Given the description of an element on the screen output the (x, y) to click on. 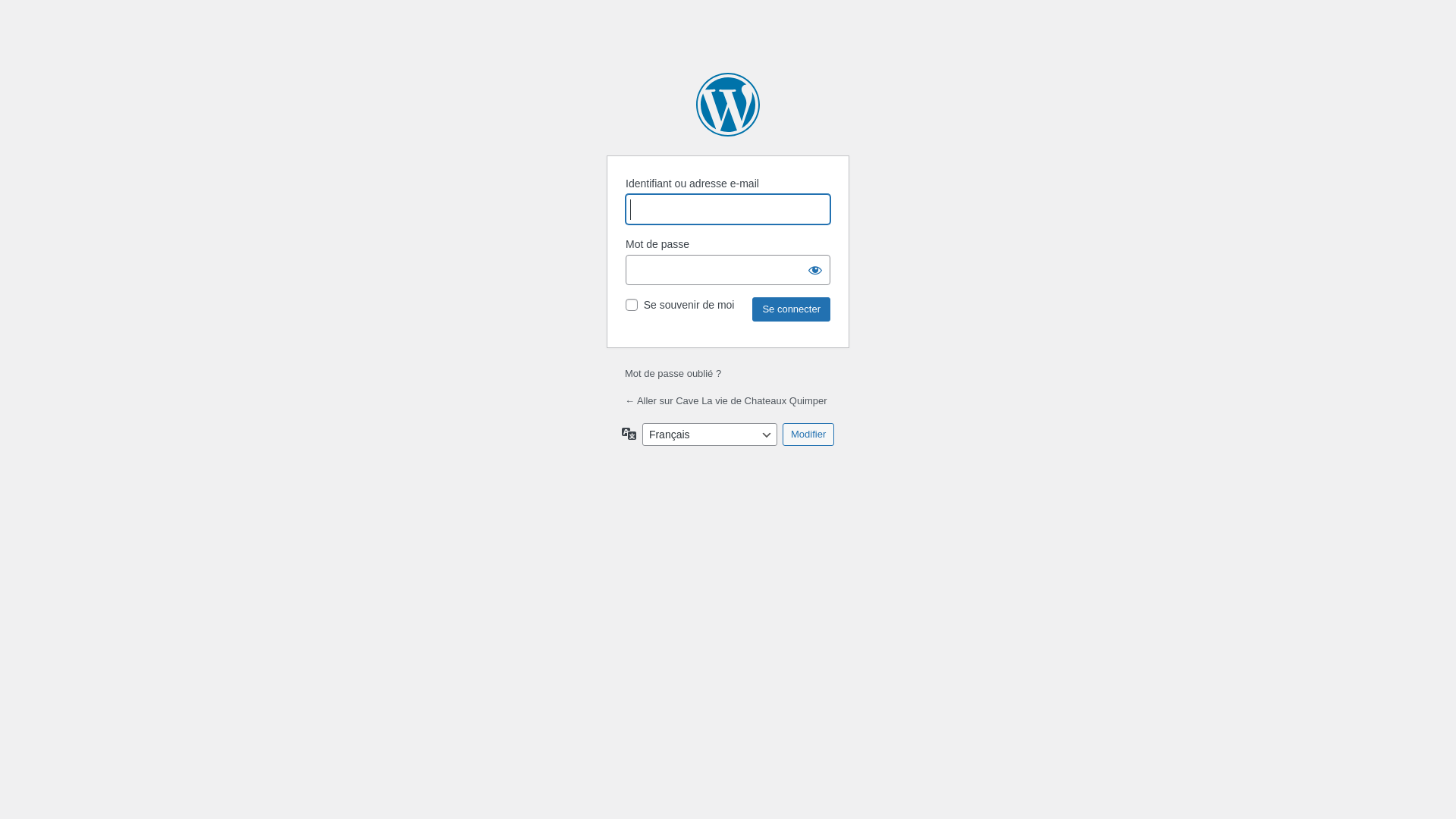
Modifier Element type: text (808, 434)
Se connecter Element type: text (791, 309)
